Given the description of an element on the screen output the (x, y) to click on. 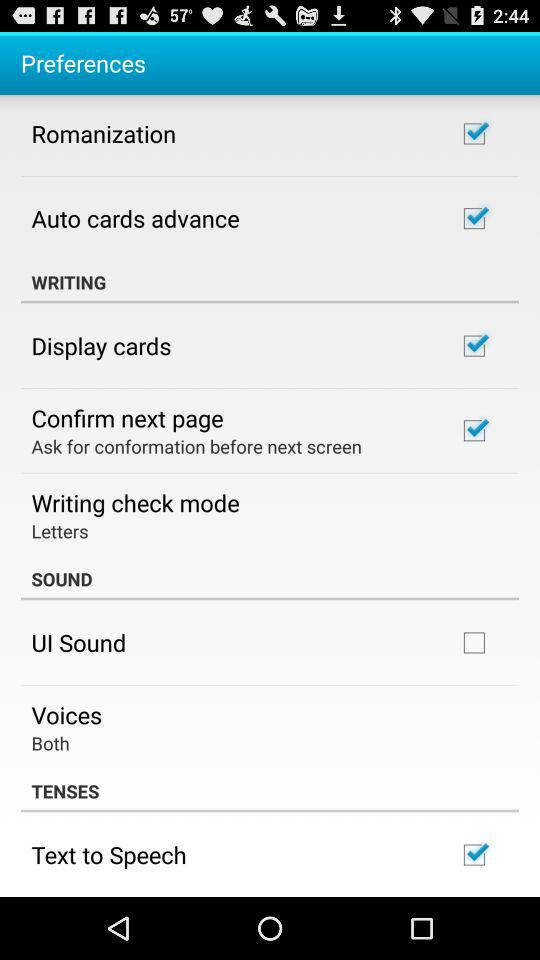
tap ui sound item (78, 642)
